Given the description of an element on the screen output the (x, y) to click on. 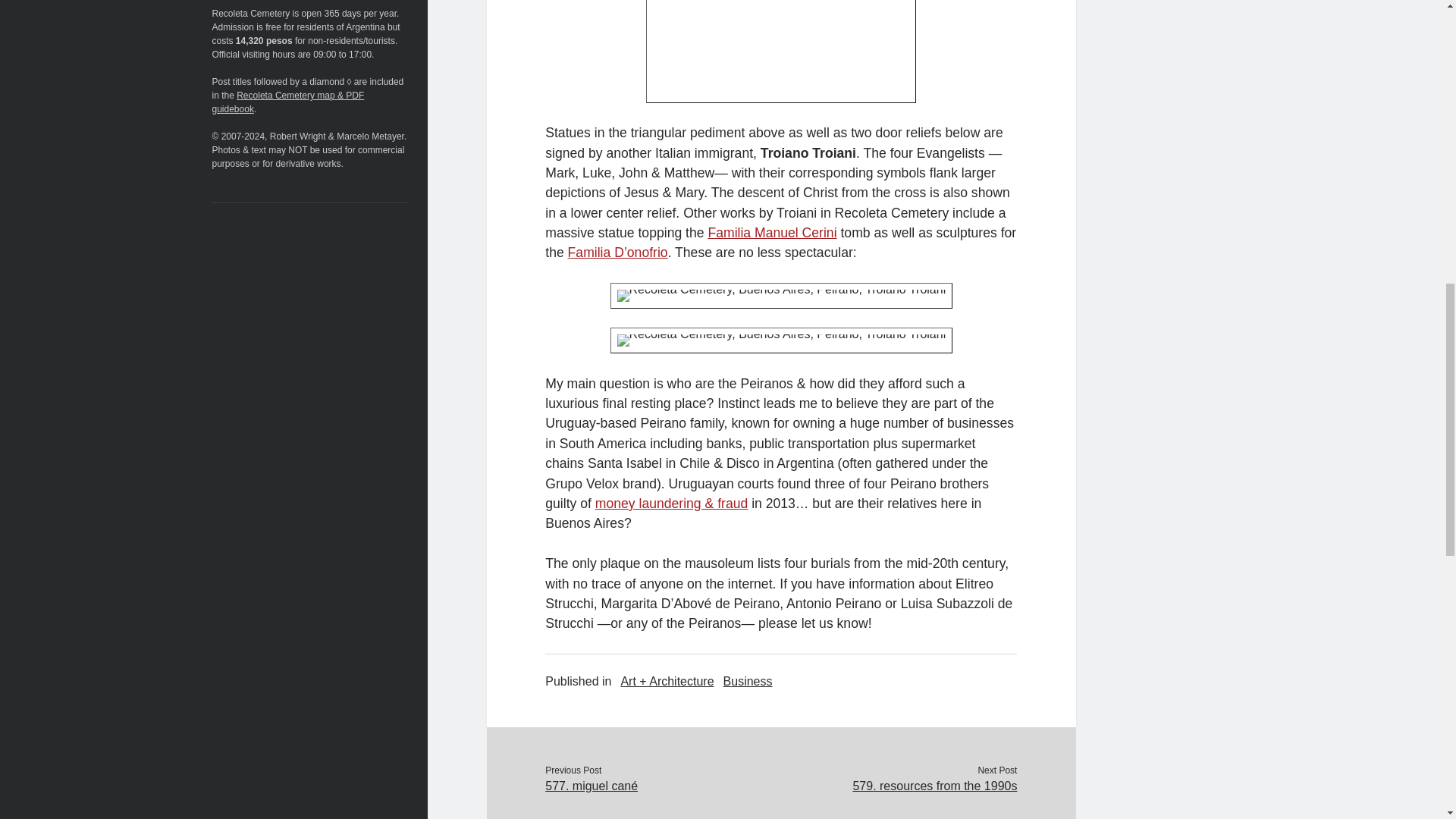
579. resources from the 1990s (898, 786)
Familia Manuel Cerini (771, 232)
Business (748, 681)
View all posts in Business (748, 681)
